Given the description of an element on the screen output the (x, y) to click on. 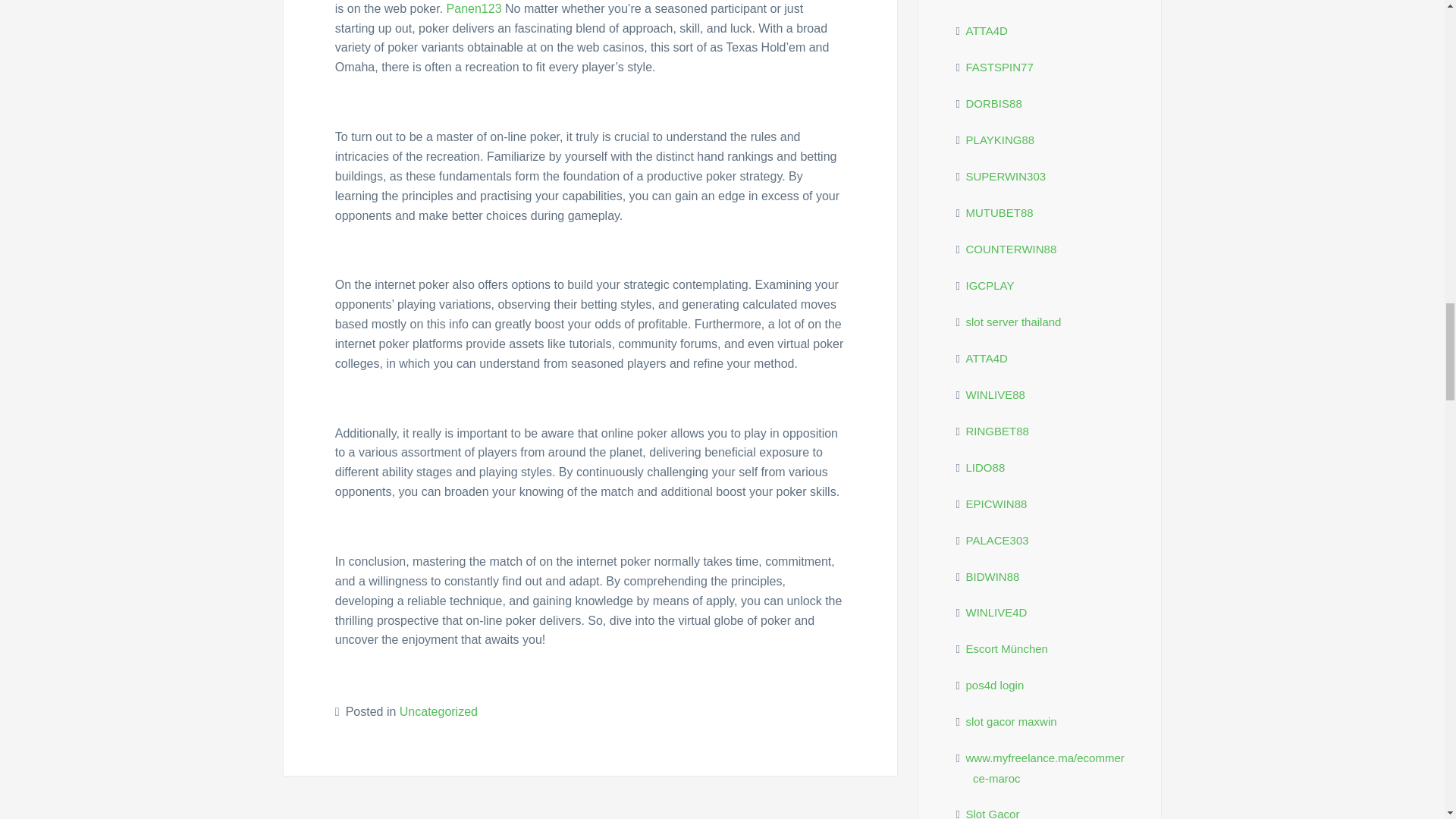
Uncategorized (437, 711)
Panen123 (474, 8)
